Given the description of an element on the screen output the (x, y) to click on. 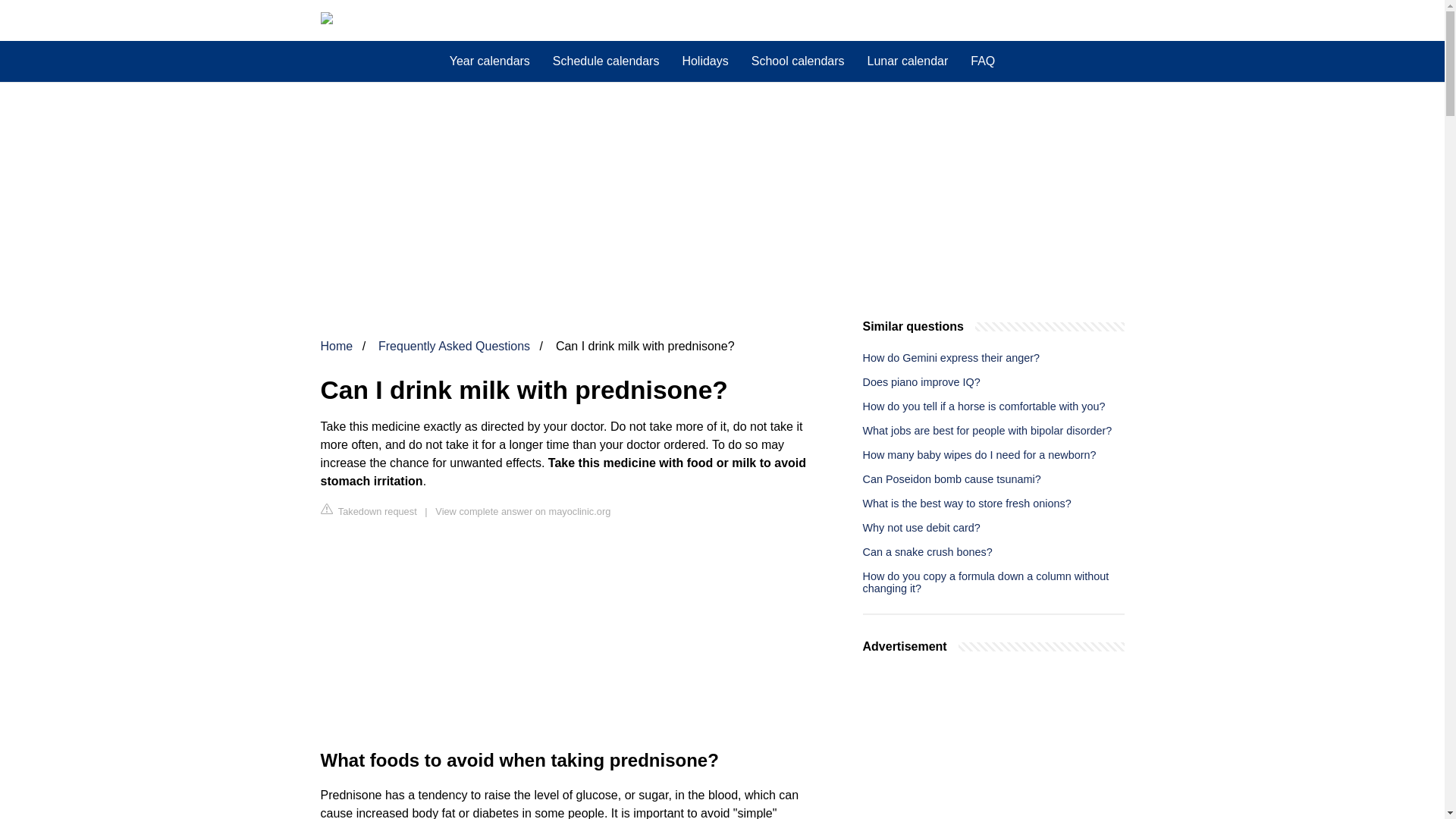
School calendars (797, 60)
Frequently Asked Questions (453, 345)
Schedule calendars (606, 60)
Takedown request (368, 510)
View complete answer on mayoclinic.org (522, 511)
Holidays (704, 60)
FAQ (982, 60)
Lunar calendar (907, 60)
Home (336, 345)
Year calendars (489, 60)
